Given the description of an element on the screen output the (x, y) to click on. 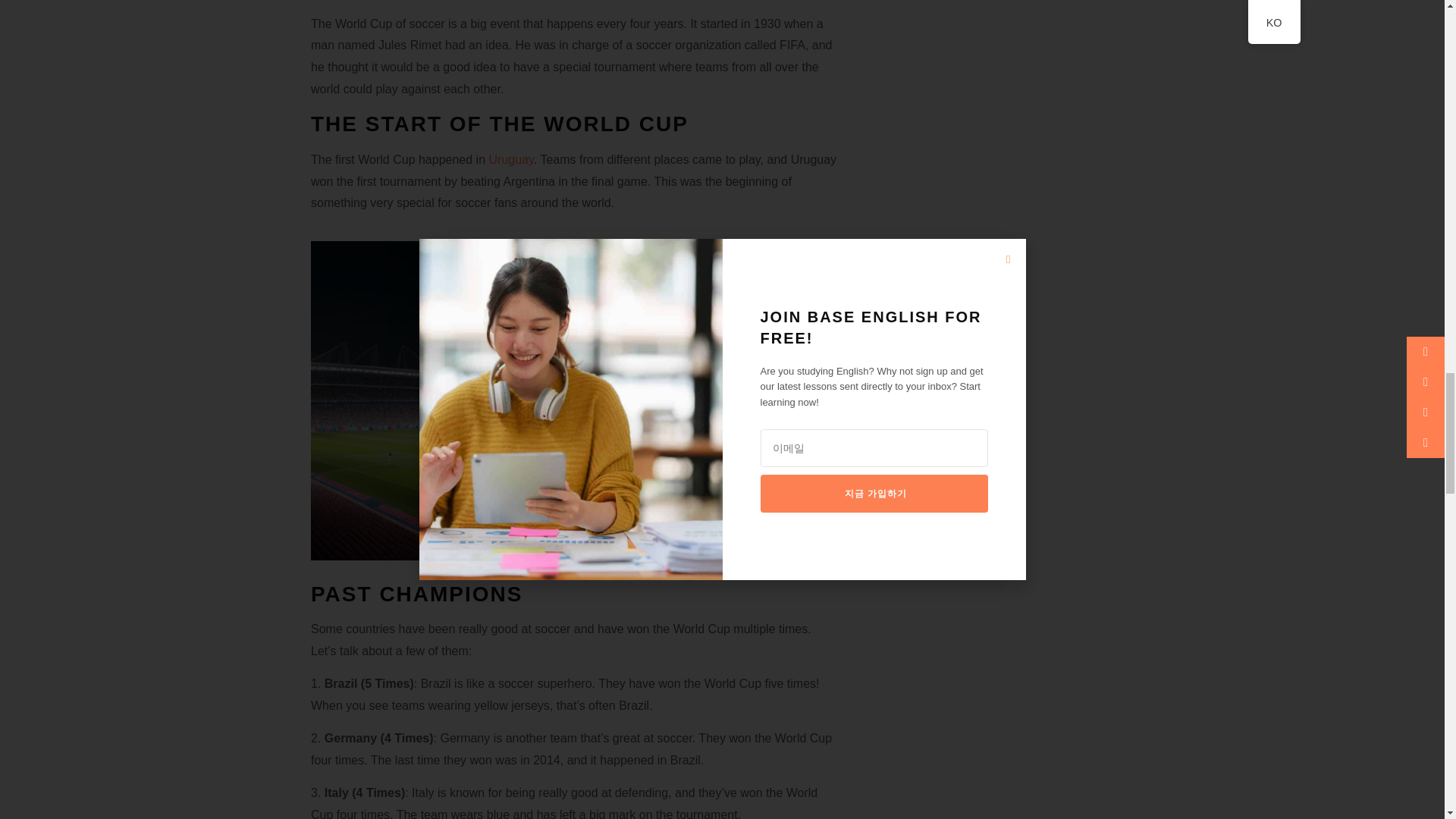
Uruguay (509, 159)
